Given the description of an element on the screen output the (x, y) to click on. 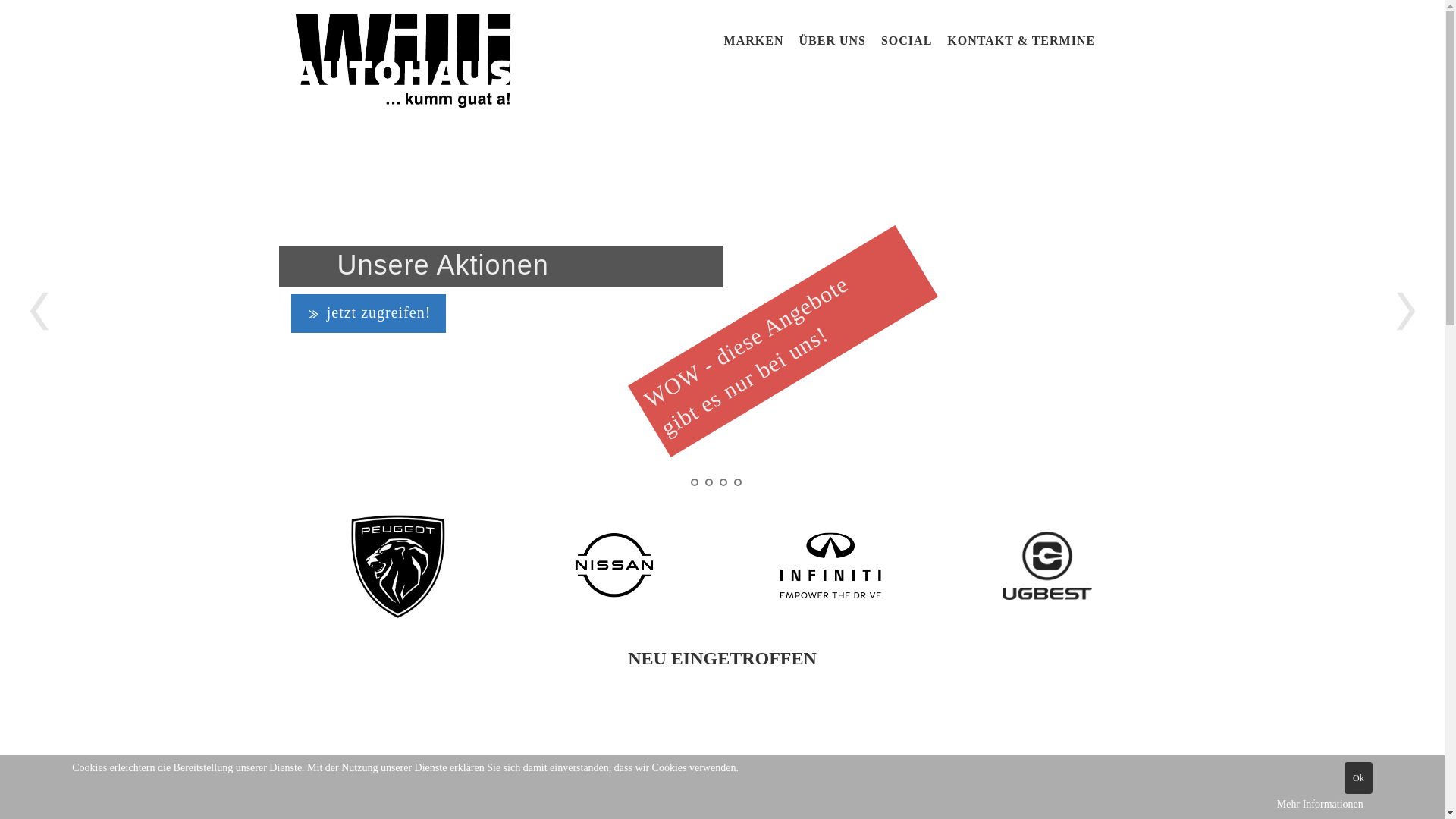
SOCIAL Element type: text (906, 41)
KONTAKT & TERMINE Element type: text (1021, 41)
Mehr Informationen Element type: text (1320, 804)
MARKEN Element type: text (754, 41)
zu den Angeboten Element type: text (421, 264)
Ok Element type: text (1358, 777)
